Given the description of an element on the screen output the (x, y) to click on. 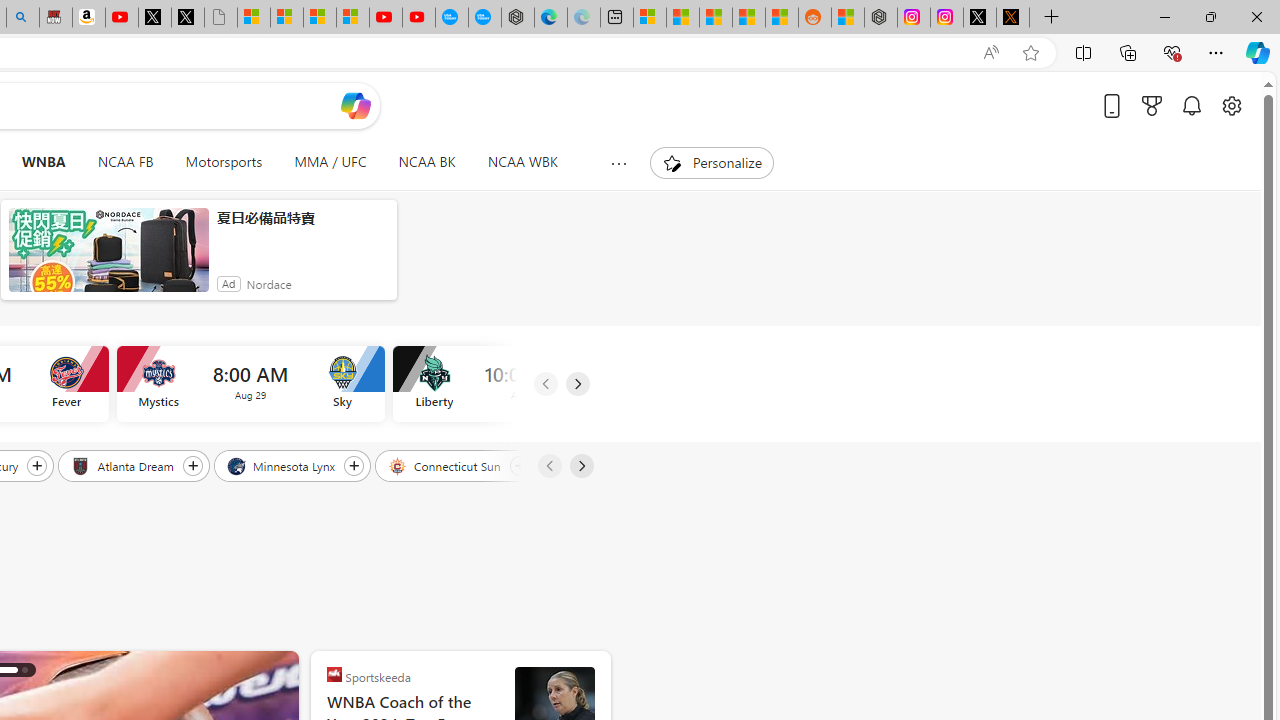
Atlanta Dream (123, 465)
YouTube Kids - An App Created for Kids to Explore Content (419, 17)
WNBA (43, 162)
NCAA BK (426, 162)
Motorsports (223, 162)
Microsoft account | Microsoft Account Privacy Settings (649, 17)
